Given the description of an element on the screen output the (x, y) to click on. 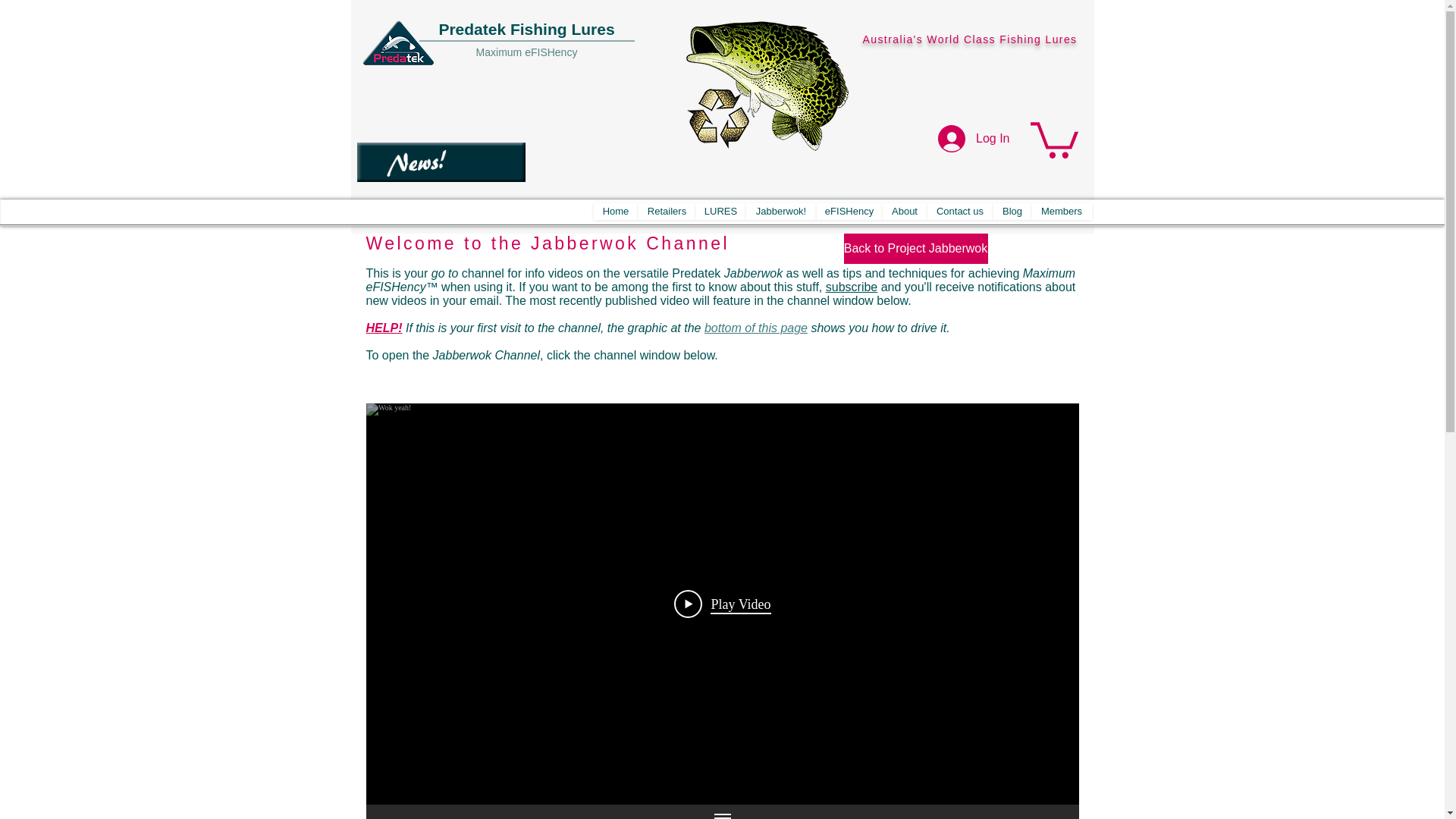
HELP! (383, 327)
Bring 'em on, put 'em back (767, 83)
Retailers (667, 211)
Log In (973, 138)
See the latest blog entry (440, 161)
Blog (1012, 211)
Home (614, 211)
Back to Project Jabberwok (915, 248)
Maximum eFISHency (527, 51)
subscribe (851, 286)
